Given the description of an element on the screen output the (x, y) to click on. 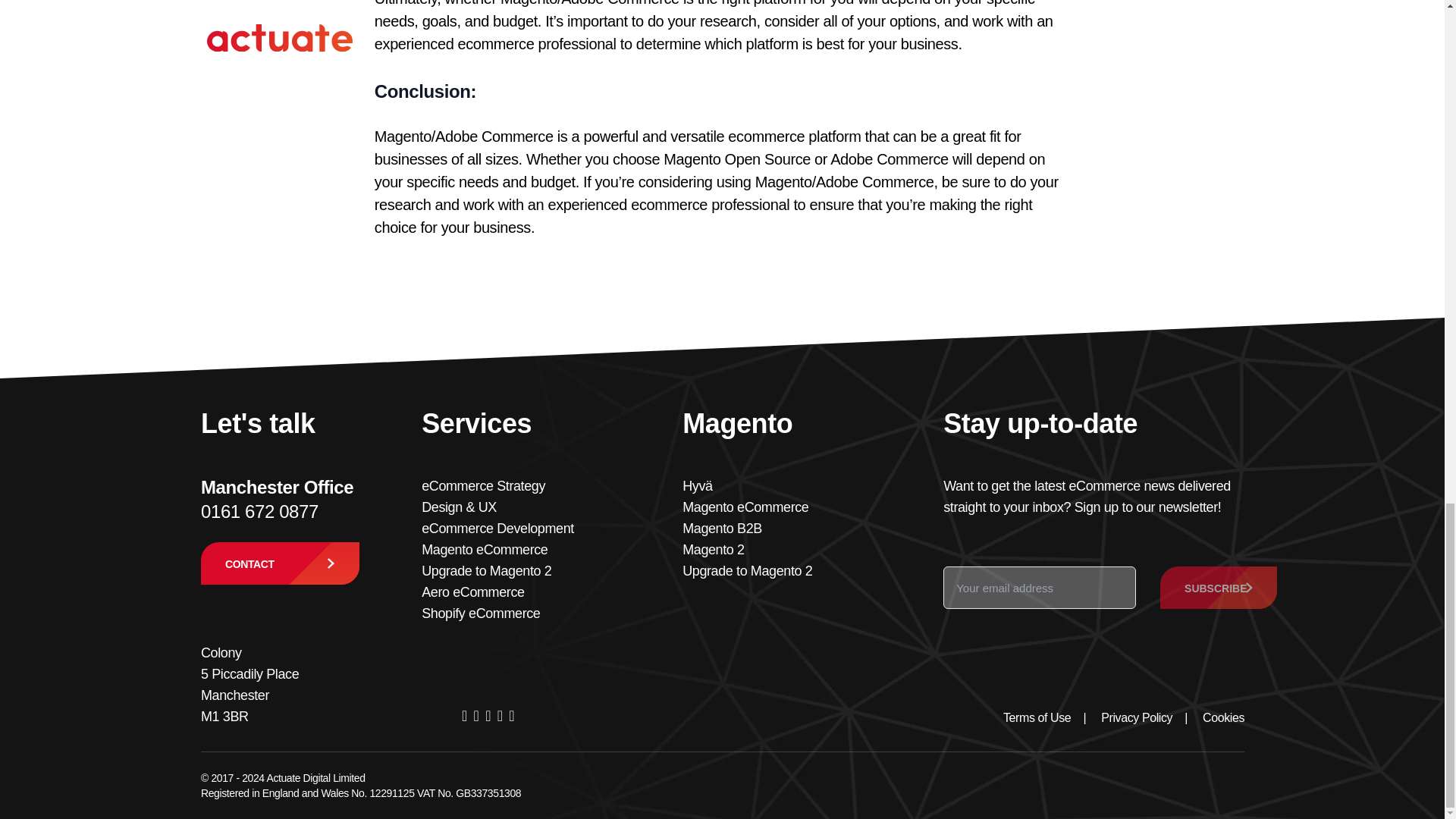
0161 672 0877 (258, 511)
eCommerce Strategy (483, 485)
Magento B2B (721, 528)
Upgrade to Magento 2 (486, 570)
eCommerce Development (497, 528)
Magento eCommerce (484, 549)
Aero eCommerce (473, 591)
CONTACT (279, 563)
Magento eCommerce (745, 507)
Shopify eCommerce (481, 613)
